Given the description of an element on the screen output the (x, y) to click on. 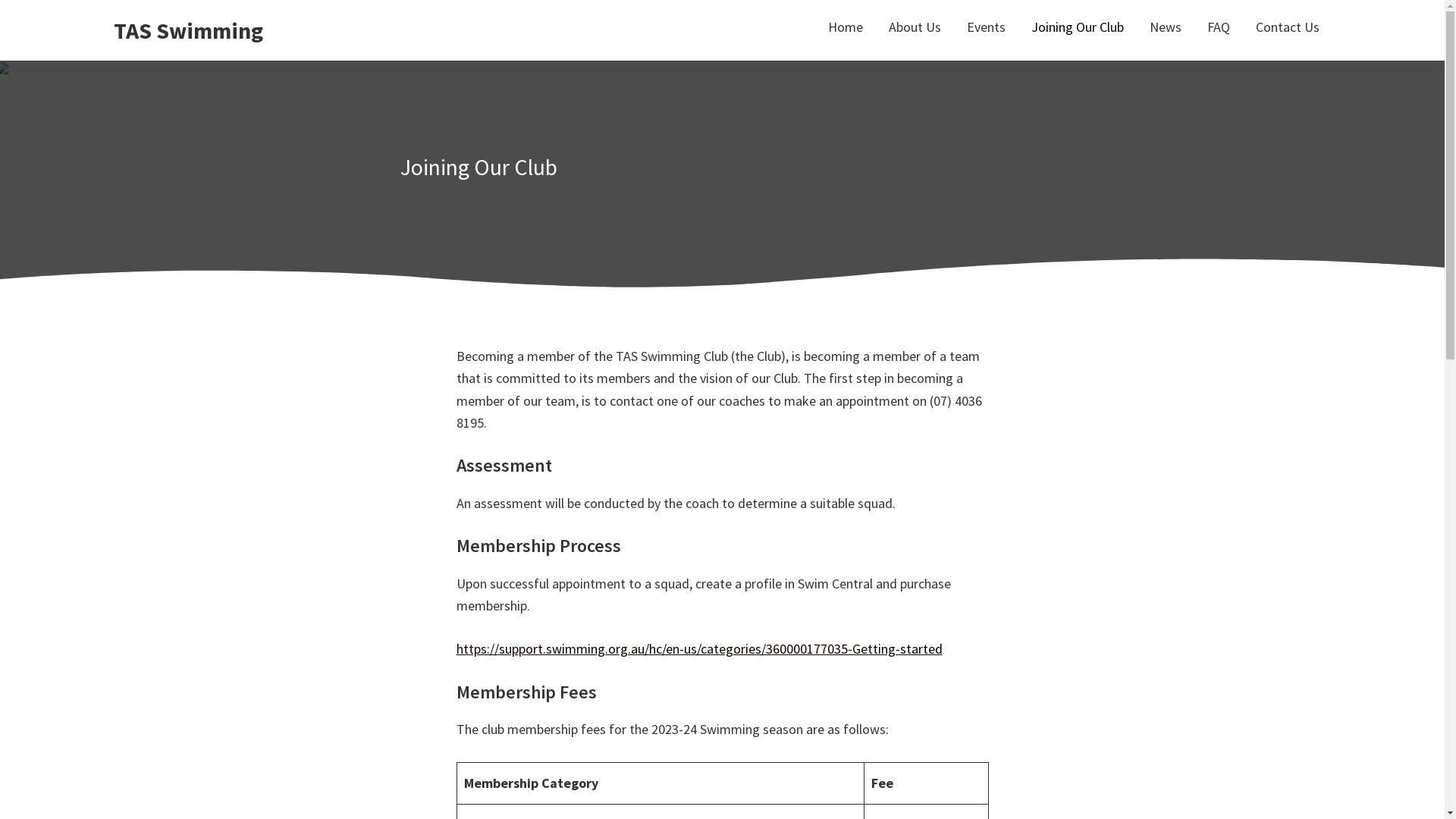
Skip to primary navigation Element type: text (0, 0)
Home Element type: text (845, 27)
Joining Our Club Element type: text (1077, 27)
Contact Us Element type: text (1287, 27)
TAS Swimming Element type: text (188, 29)
FAQ Element type: text (1218, 27)
News Element type: text (1165, 27)
About Us Element type: text (914, 27)
Events Element type: text (985, 27)
